Given the description of an element on the screen output the (x, y) to click on. 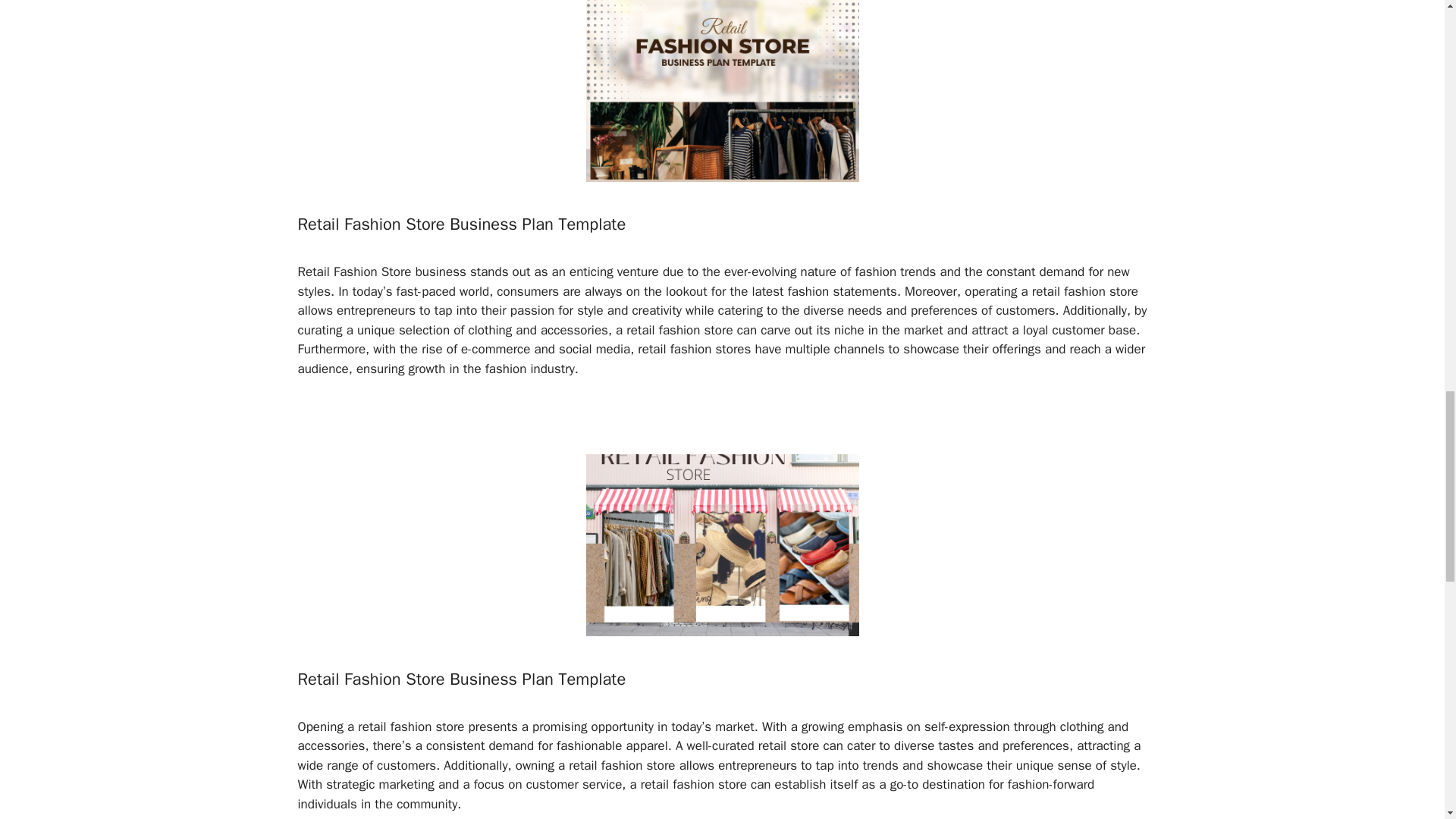
Retail Fashion Store Business Plan Template (461, 224)
Retail Fashion Store Business Plan Template (461, 679)
